Given the description of an element on the screen output the (x, y) to click on. 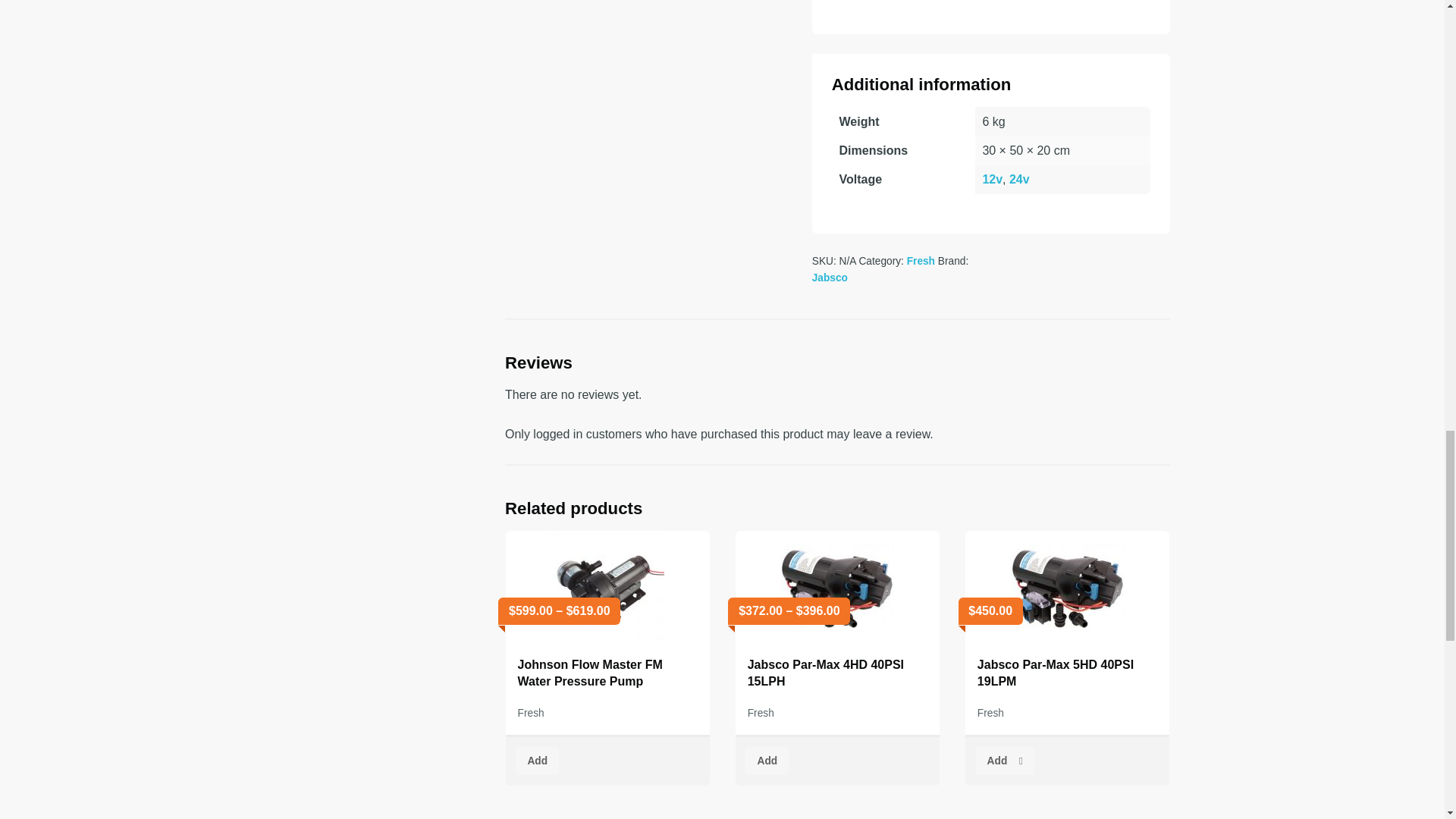
Jabsco (829, 277)
24v (1019, 178)
12v (992, 178)
Add (537, 760)
Fresh (920, 260)
Fresh (531, 713)
